Given the description of an element on the screen output the (x, y) to click on. 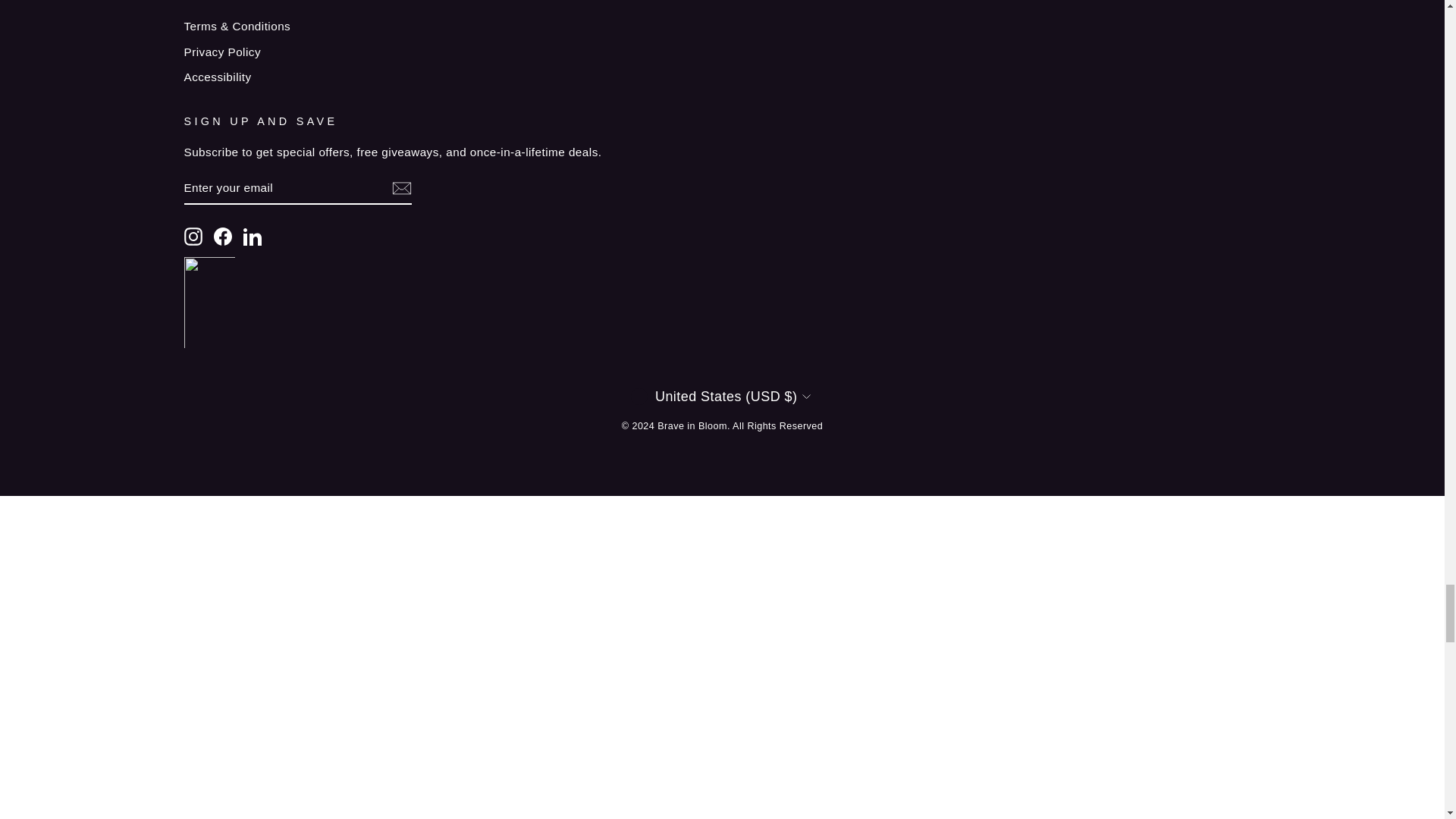
Brave in Bloom on Facebook (222, 236)
Brave in Bloom on LinkedIn (251, 236)
Brave in Bloom on Instagram (192, 236)
